Given the description of an element on the screen output the (x, y) to click on. 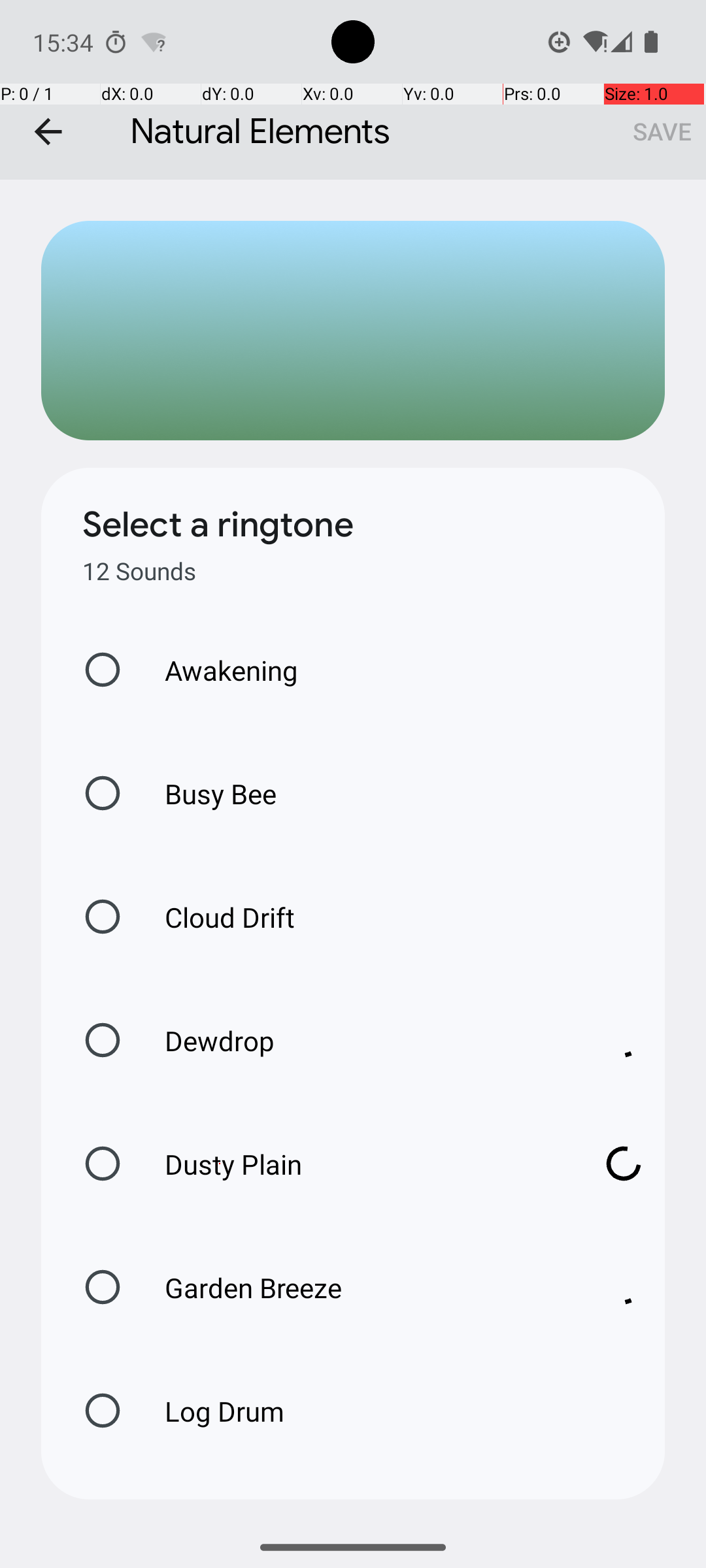
Awakening Element type: android.widget.TextView (217, 669)
Busy Bee Element type: android.widget.TextView (206, 793)
Cloud Drift Element type: android.widget.TextView (215, 916)
Dewdrop Element type: android.widget.TextView (359, 1040)
Dusty Plain Element type: android.widget.TextView (359, 1163)
Garden Breeze Element type: android.widget.TextView (359, 1287)
Log Drum Element type: android.widget.TextView (210, 1410)
